Given the description of an element on the screen output the (x, y) to click on. 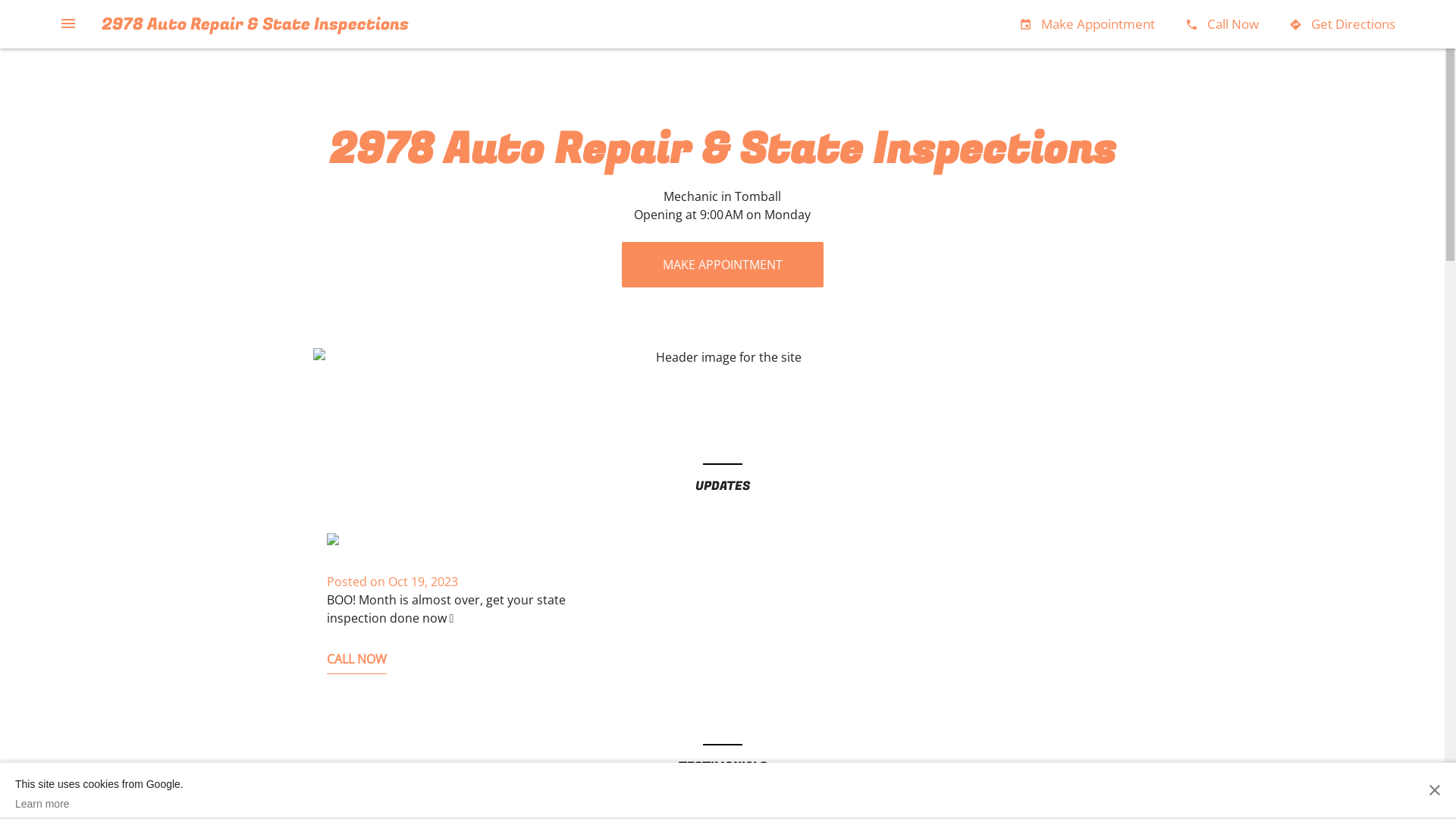
Learn more Element type: text (99, 803)
2978 Auto Repair & State Inspections Element type: text (254, 24)
MAKE APPOINTMENT Element type: text (722, 264)
Posted on Oct 19, 2023 Element type: text (391, 581)
CALL NOW Element type: text (355, 662)
